Given the description of an element on the screen output the (x, y) to click on. 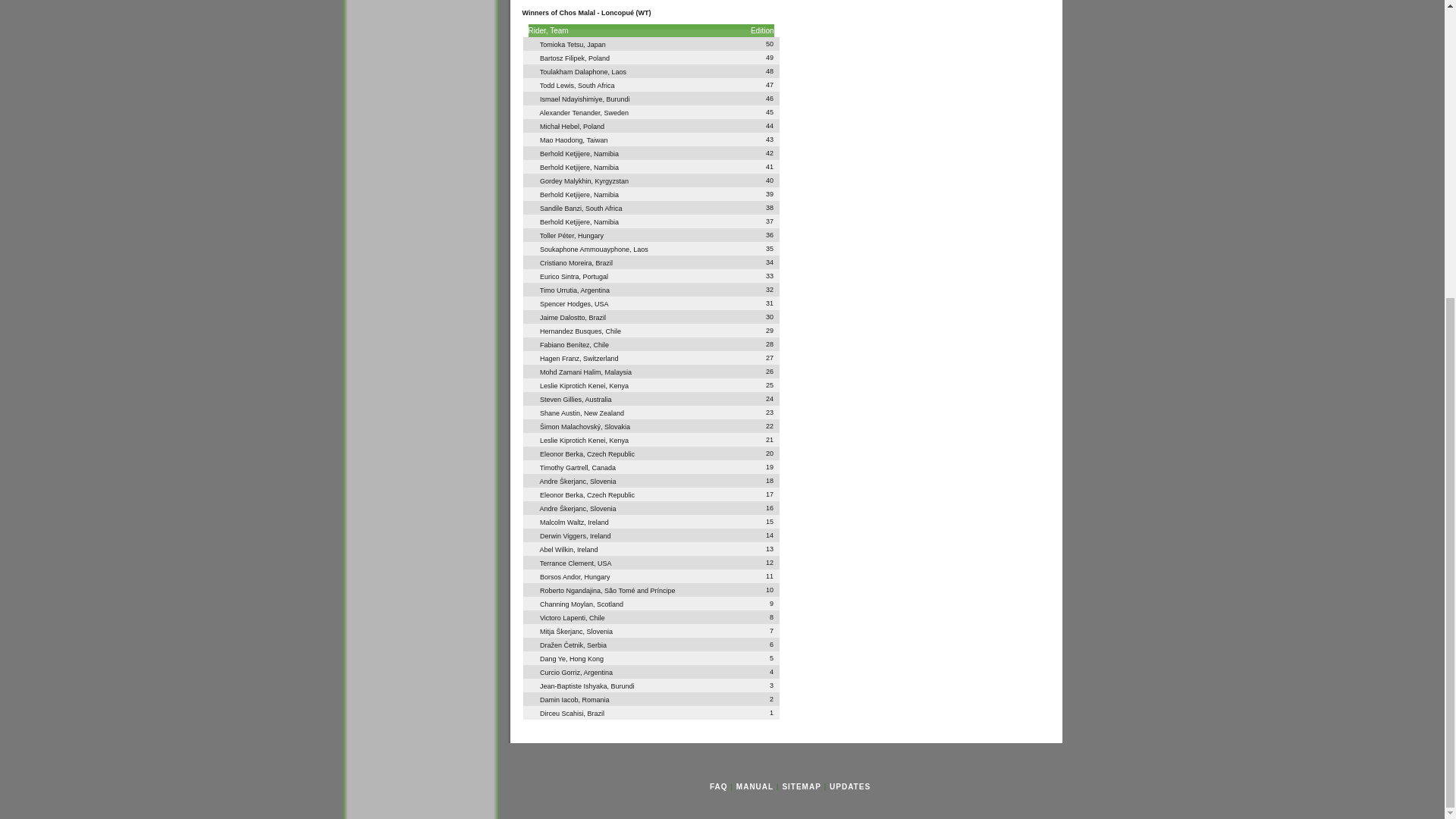
Japan (595, 44)
Sweden (532, 111)
45 (769, 112)
Poland (532, 124)
Burundi (532, 97)
Laos (618, 71)
Poland (599, 58)
South Africa (596, 85)
50 (769, 43)
Poland (593, 126)
49 (769, 57)
Alexander Tenander (563, 112)
Namibia (532, 152)
South Africa (532, 83)
Toulakham Dalaphone (567, 71)
